Given the description of an element on the screen output the (x, y) to click on. 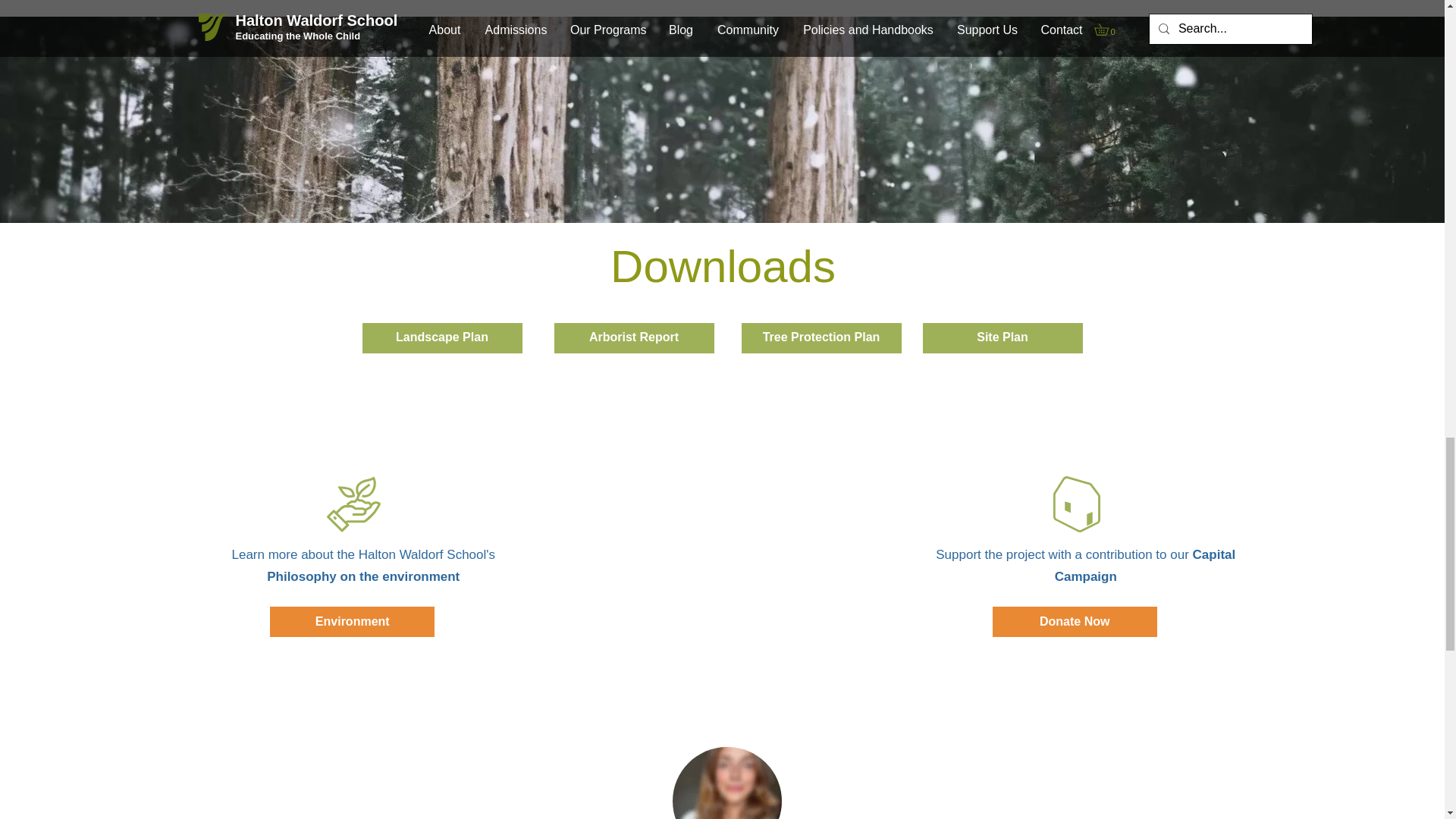
Environment (351, 621)
Tree Protection Plan (821, 337)
Site Plan (1001, 337)
Landscape Plan (442, 337)
Arborist Report (633, 337)
Donate Now (1074, 621)
